Given the description of an element on the screen output the (x, y) to click on. 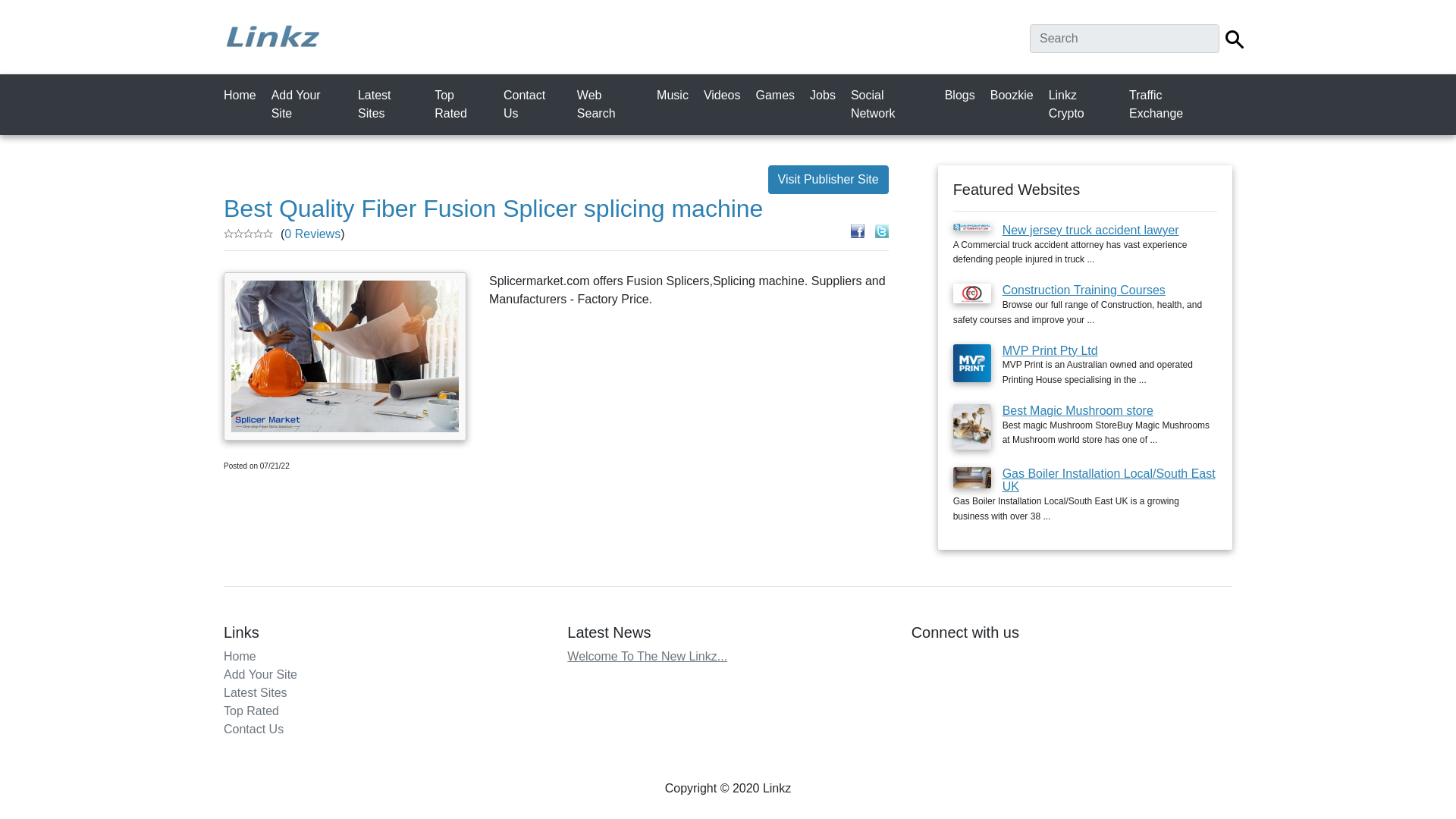
Latest Sites (391, 104)
Add Your Site (260, 674)
Contact Us (253, 728)
Latest Sites (255, 692)
Jobs (825, 95)
Contact Us (535, 104)
Blogs (962, 95)
Traffic Exchange (1176, 104)
MVP Print Pty Ltd (1050, 350)
Home (240, 656)
Top Rated (464, 104)
Videos (724, 95)
Welcome To The New Linkz... (646, 656)
Home (243, 95)
0 Reviews (311, 233)
